Given the description of an element on the screen output the (x, y) to click on. 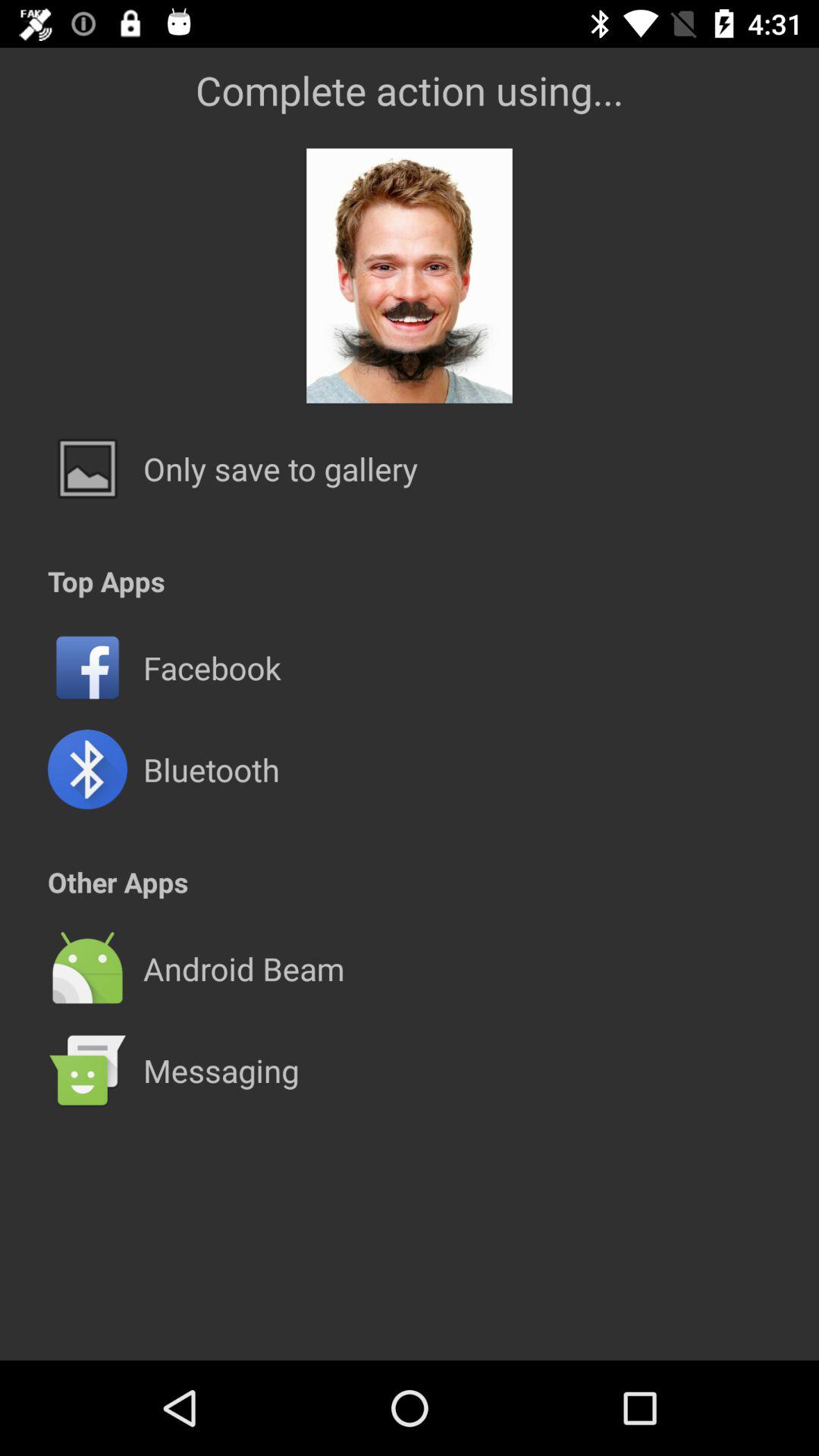
jump to top apps app (105, 581)
